Given the description of an element on the screen output the (x, y) to click on. 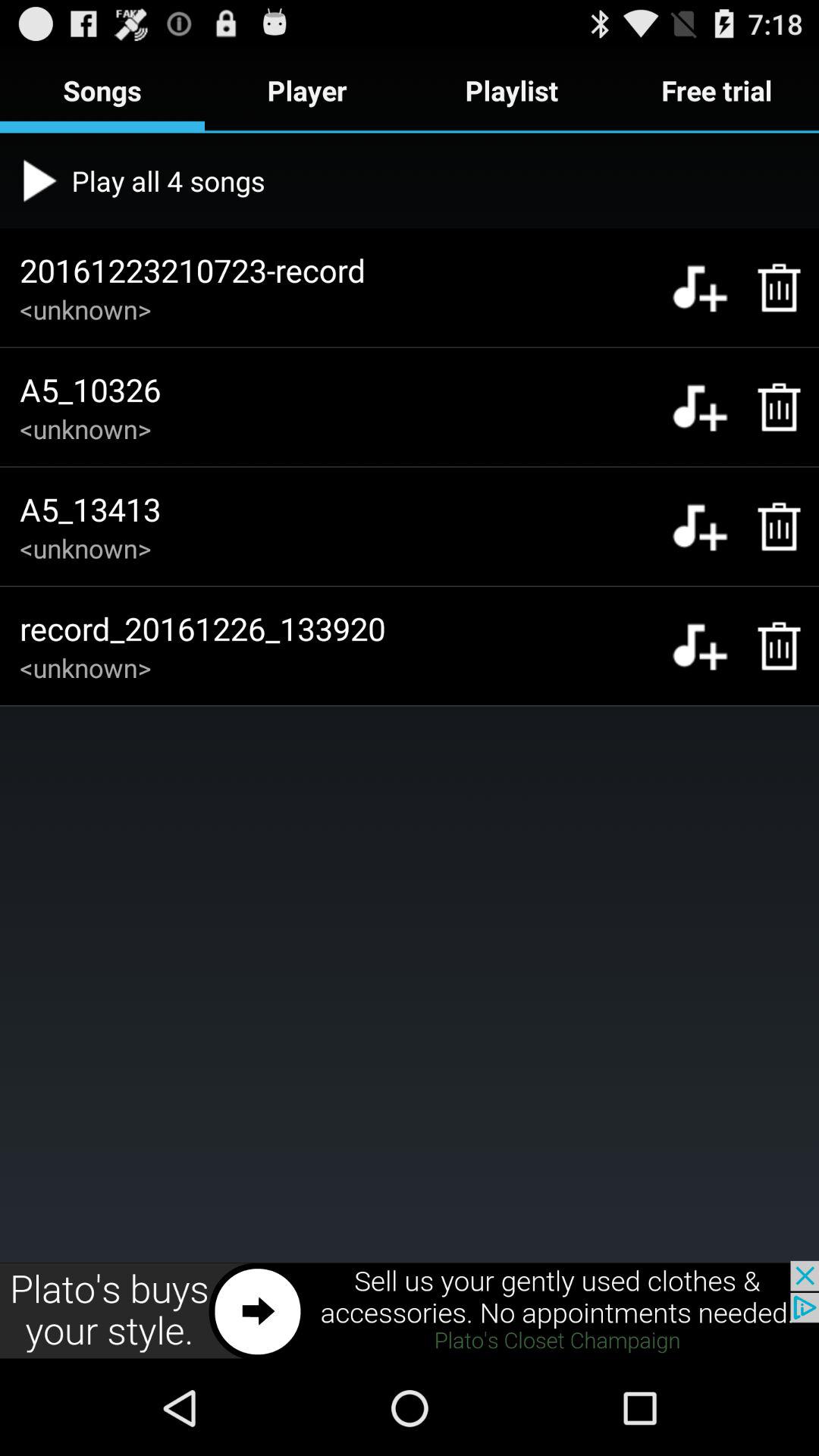
add a song (699, 645)
